Given the description of an element on the screen output the (x, y) to click on. 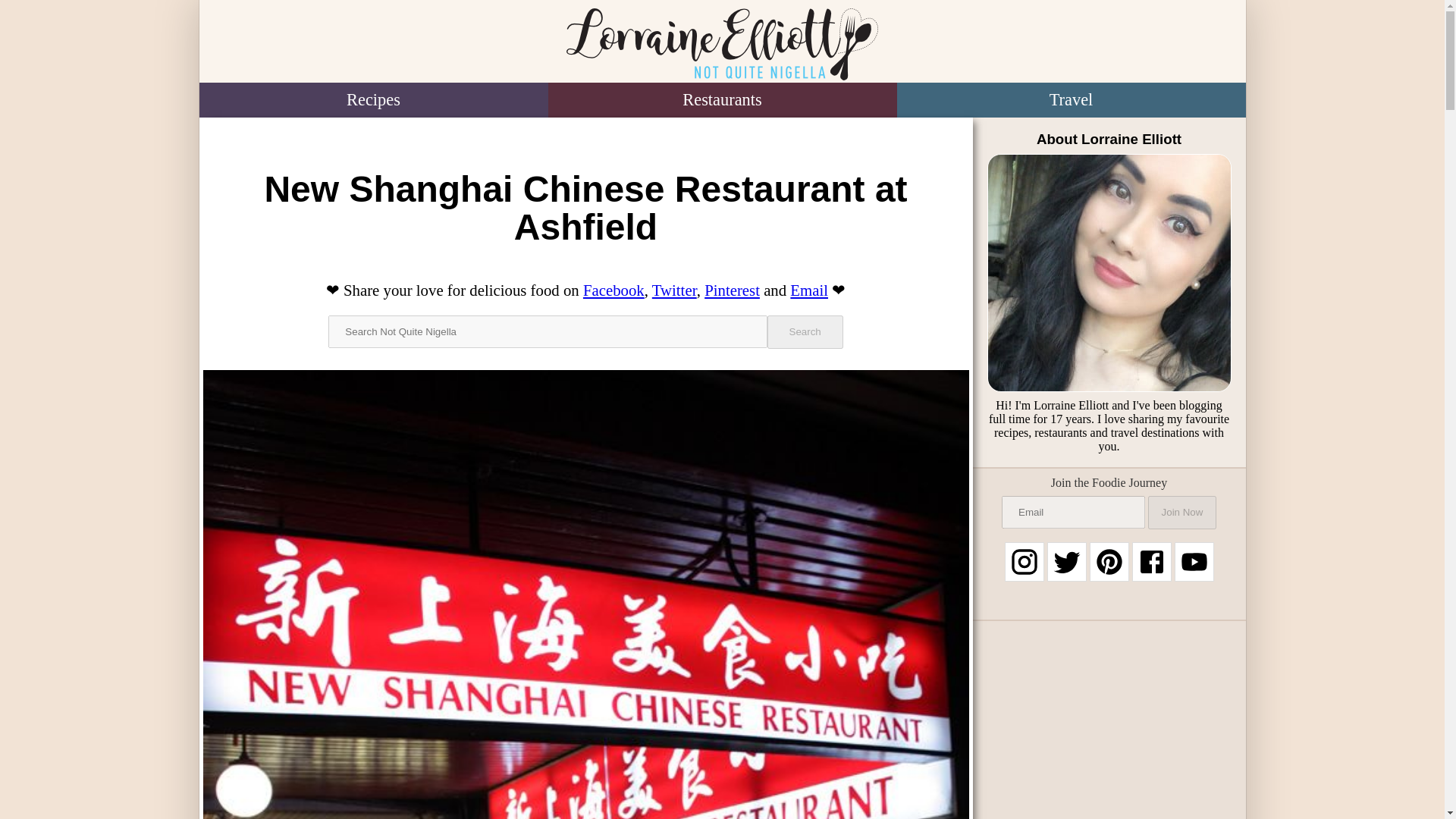
Twitter (674, 289)
delicious food (513, 289)
Tweet (674, 289)
Share on Facebook (614, 289)
Pinterest (732, 289)
Search (805, 331)
Pin it (732, 289)
Email (809, 289)
Recipes (372, 99)
Travel (1070, 99)
Restaurants (721, 99)
Email (809, 289)
Join Now (1181, 512)
Search (805, 331)
Facebook (614, 289)
